Given the description of an element on the screen output the (x, y) to click on. 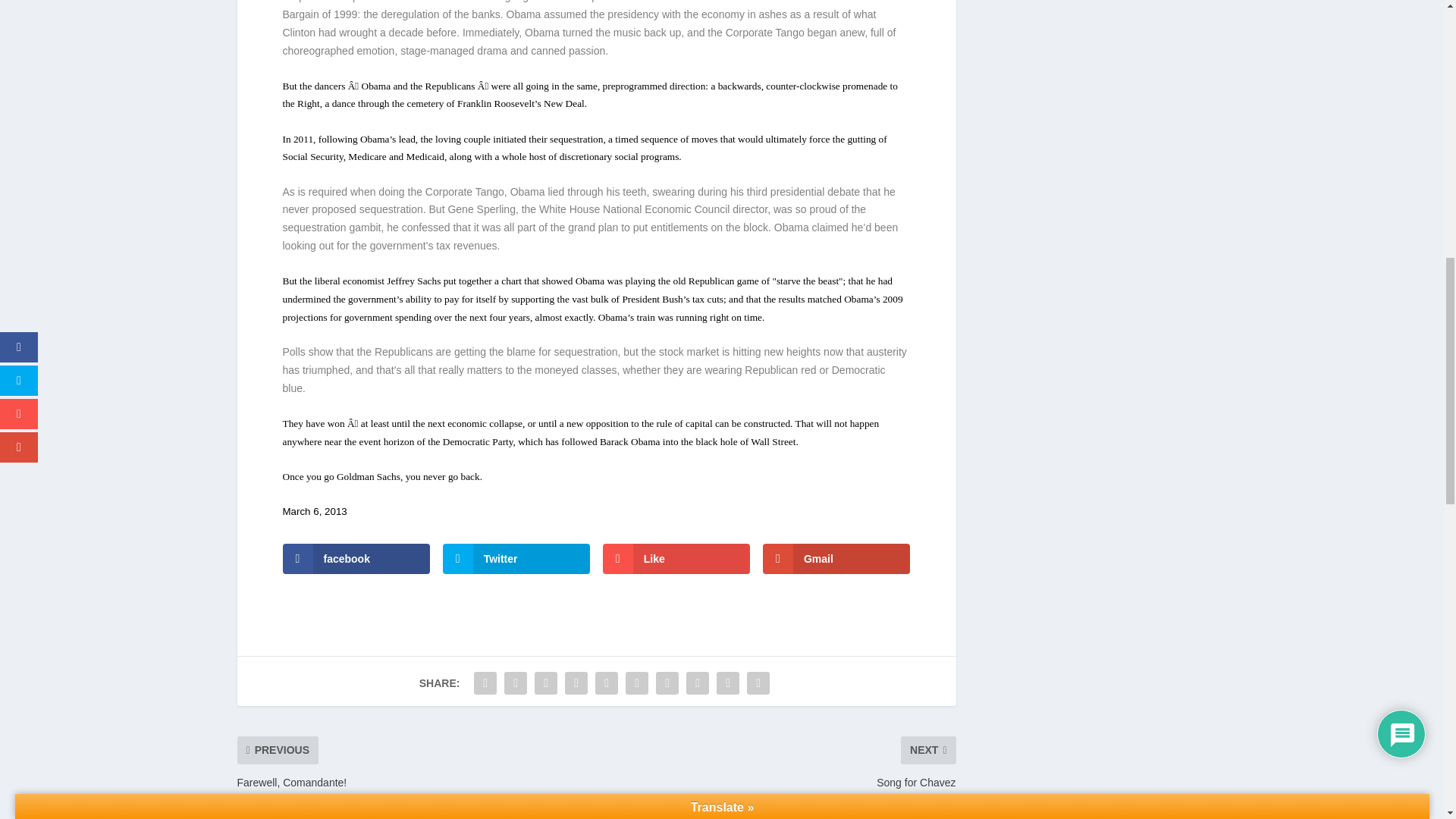
Share "The Sequestration Tango" via Pinterest (606, 683)
Share "The Sequestration Tango" via Buffer (667, 683)
Share "The Sequestration Tango" via Stumbleupon (697, 683)
Share "The Sequestration Tango" via Tumblr (575, 683)
Share "The Sequestration Tango" via Twitter (515, 683)
Share "The Sequestration Tango" via LinkedIn (636, 683)
Share "The Sequestration Tango" via Facebook (485, 683)
